Given the description of an element on the screen output the (x, y) to click on. 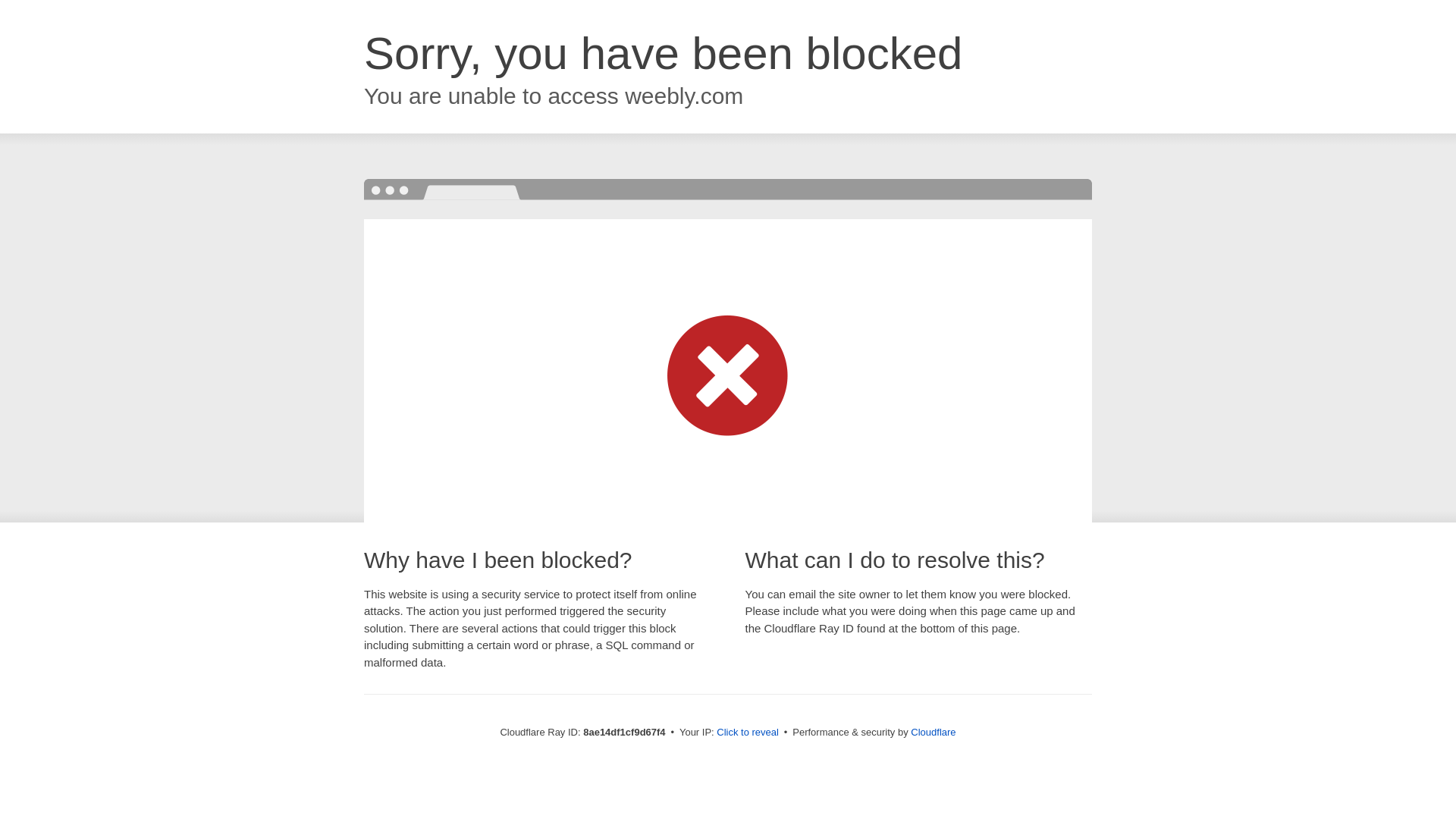
Click to reveal (747, 732)
Cloudflare (933, 731)
